Given the description of an element on the screen output the (x, y) to click on. 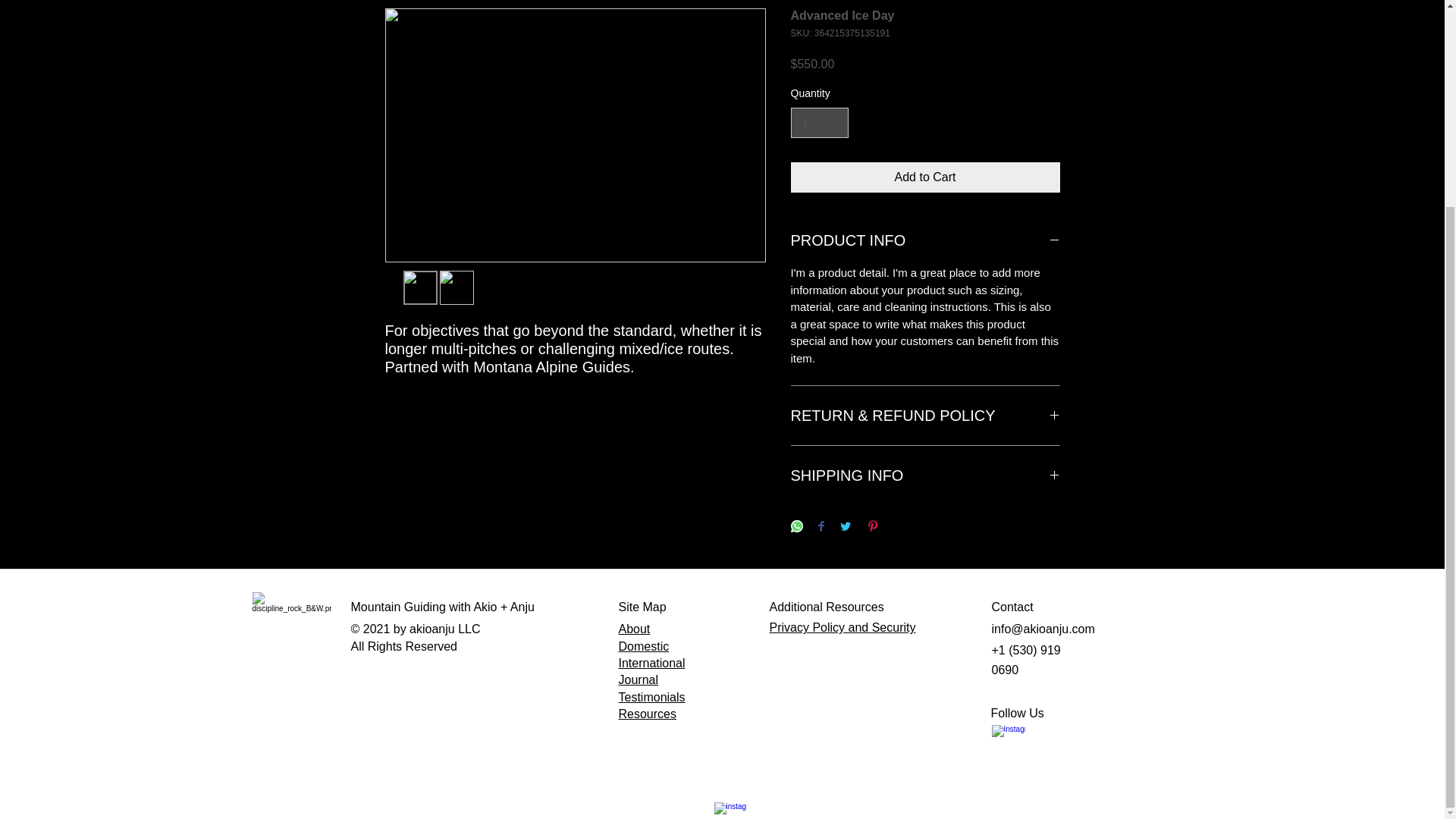
Resources (647, 713)
PRODUCT INFO (924, 240)
Journal (638, 679)
SHIPPING INFO (924, 475)
1 (818, 122)
Privacy Policy and Security (841, 626)
About (634, 628)
Domestic (643, 645)
International (651, 662)
Add to Cart (924, 177)
Testimonials (651, 697)
